Given the description of an element on the screen output the (x, y) to click on. 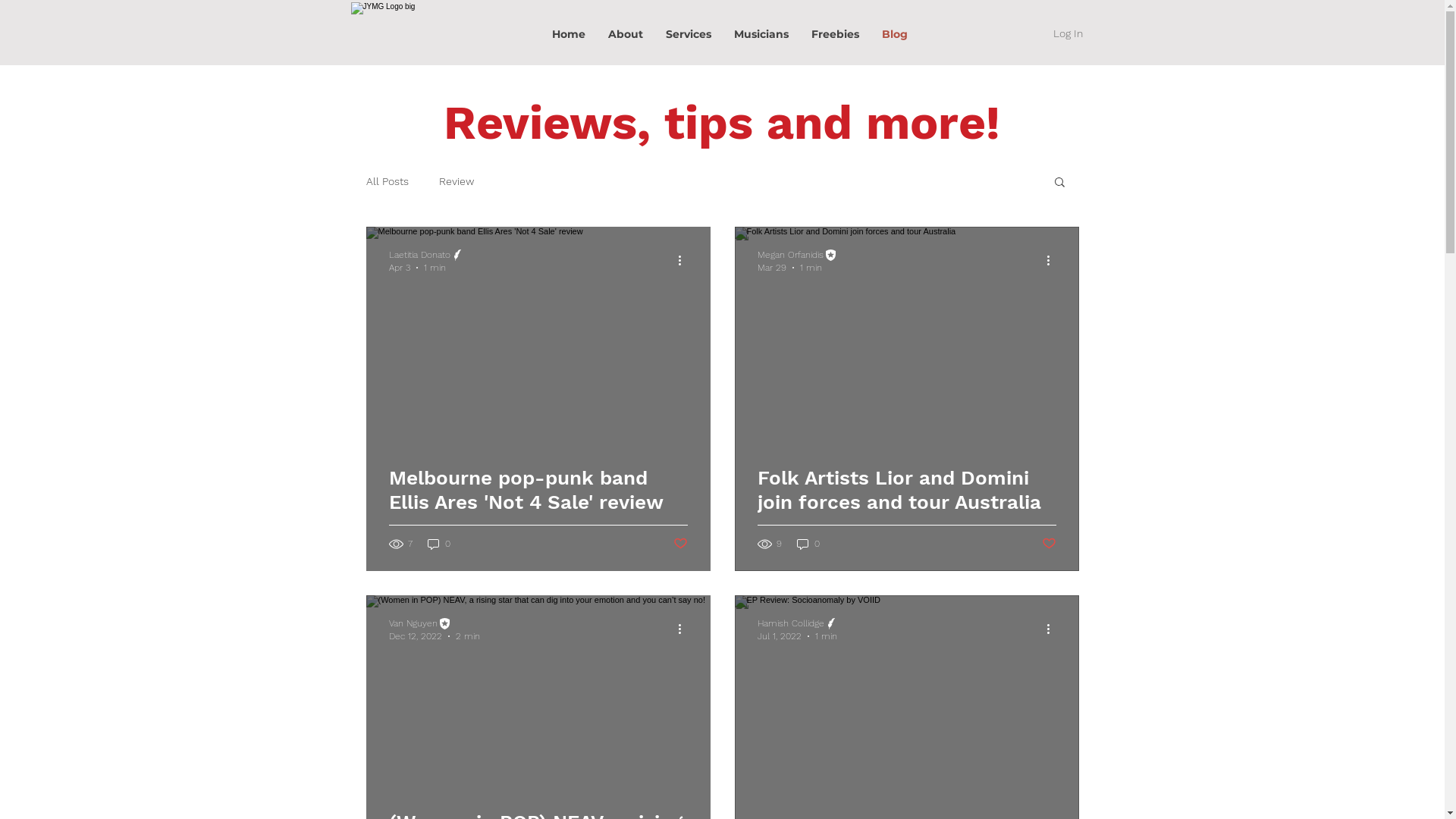
About Element type: text (624, 33)
Van Nguyen Element type: text (433, 622)
0 Element type: text (807, 543)
Musicians Element type: text (760, 33)
Blog Element type: text (894, 33)
Melbourne pop-punk band Ellis Ares 'Not 4 Sale' review Element type: text (537, 507)
Post not marked as liked Element type: text (1048, 543)
Log In Element type: text (1066, 33)
Laetitia Donato Element type: text (426, 254)
Services Element type: text (687, 33)
0 Element type: text (438, 543)
Folk Artists Lior and Domini join forces and tour Australia Element type: text (905, 507)
Hamish Collidge Element type: text (796, 622)
Freebies Element type: text (834, 33)
Home Element type: text (567, 33)
Review Element type: text (455, 181)
All Posts Element type: text (386, 181)
Megan Orfanidis Element type: text (796, 254)
Post not marked as liked Element type: text (680, 543)
